Given the description of an element on the screen output the (x, y) to click on. 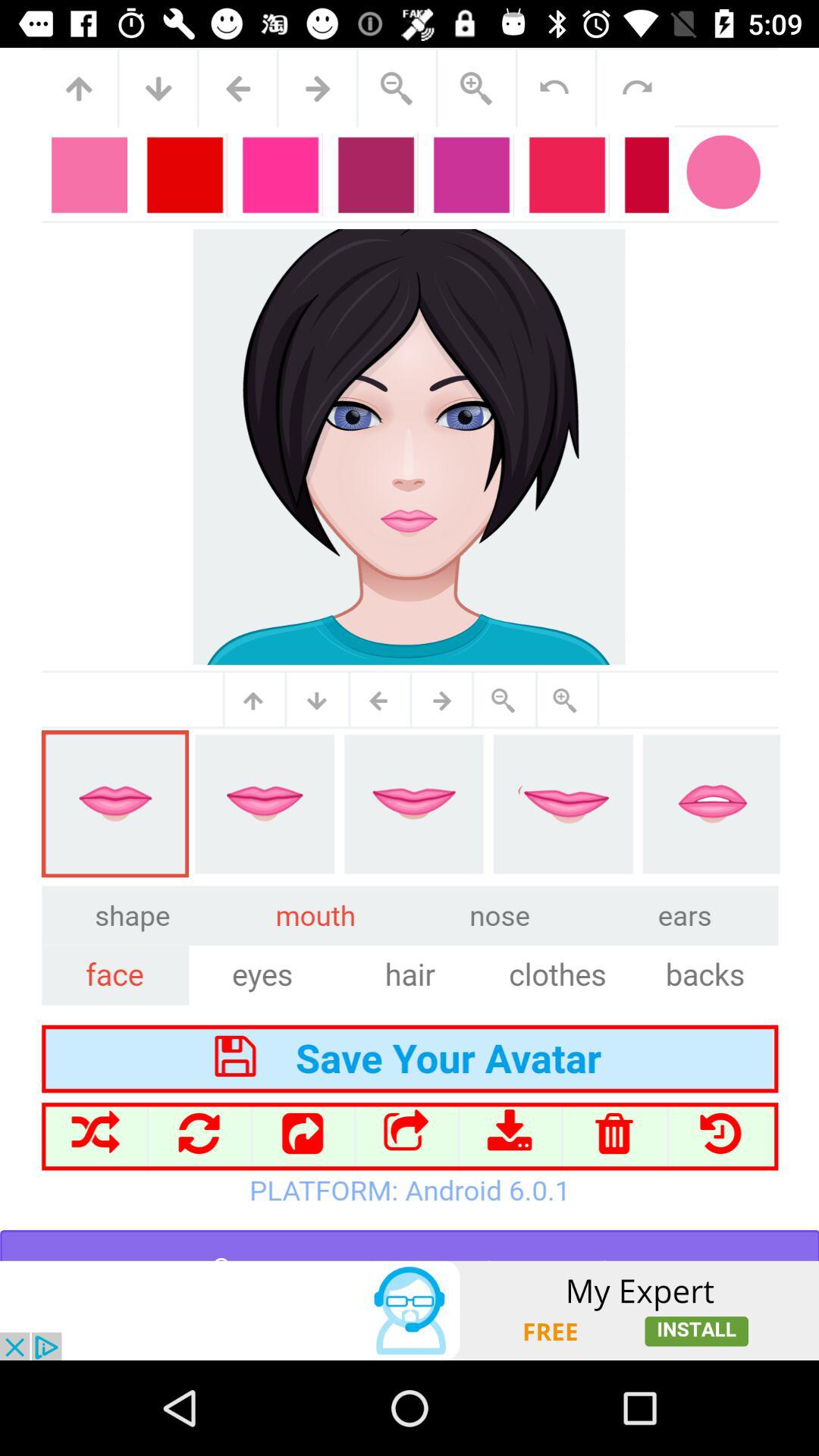
advatisment (409, 1310)
